Given the description of an element on the screen output the (x, y) to click on. 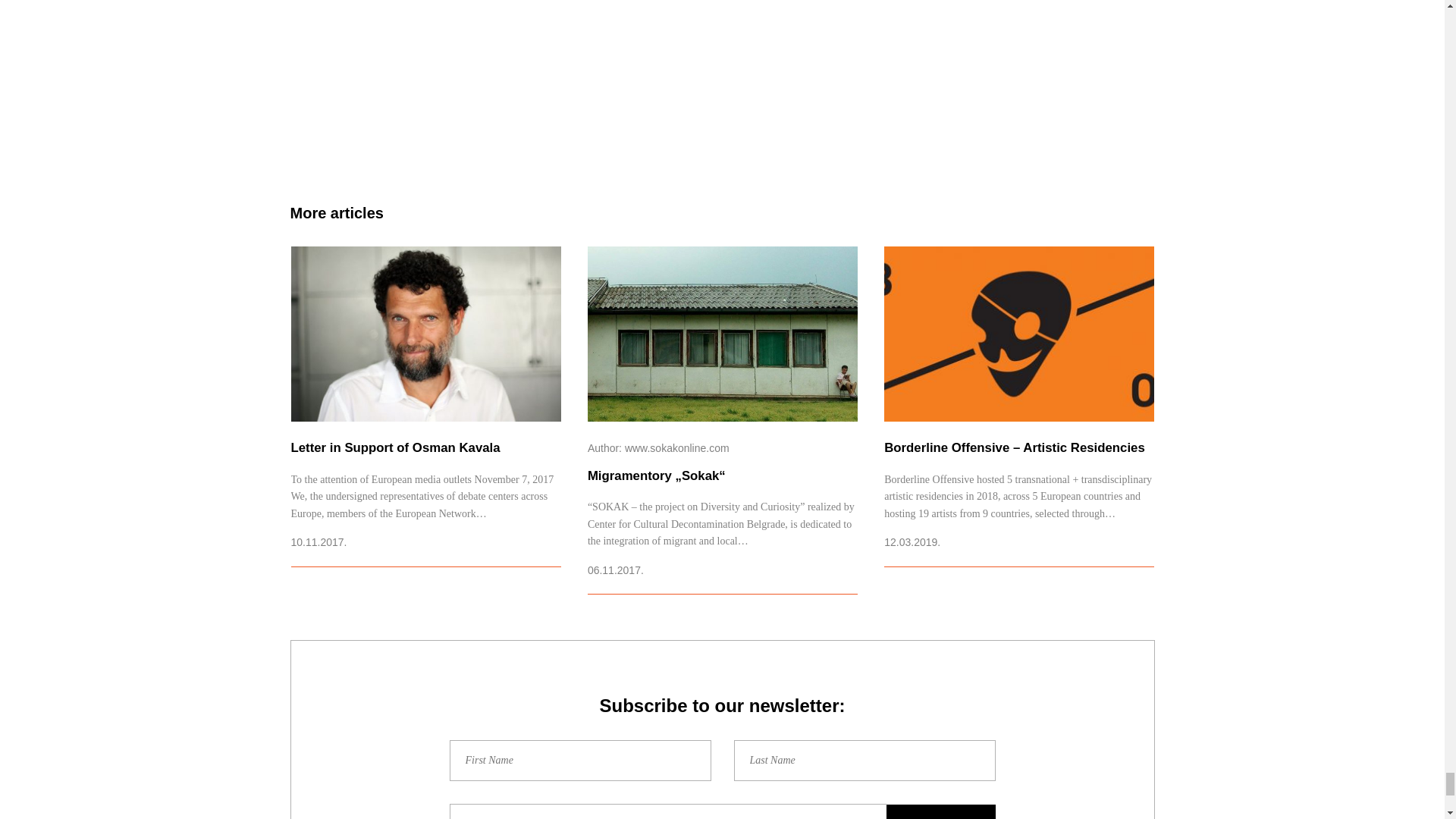
Subscribe (939, 811)
